Given the description of an element on the screen output the (x, y) to click on. 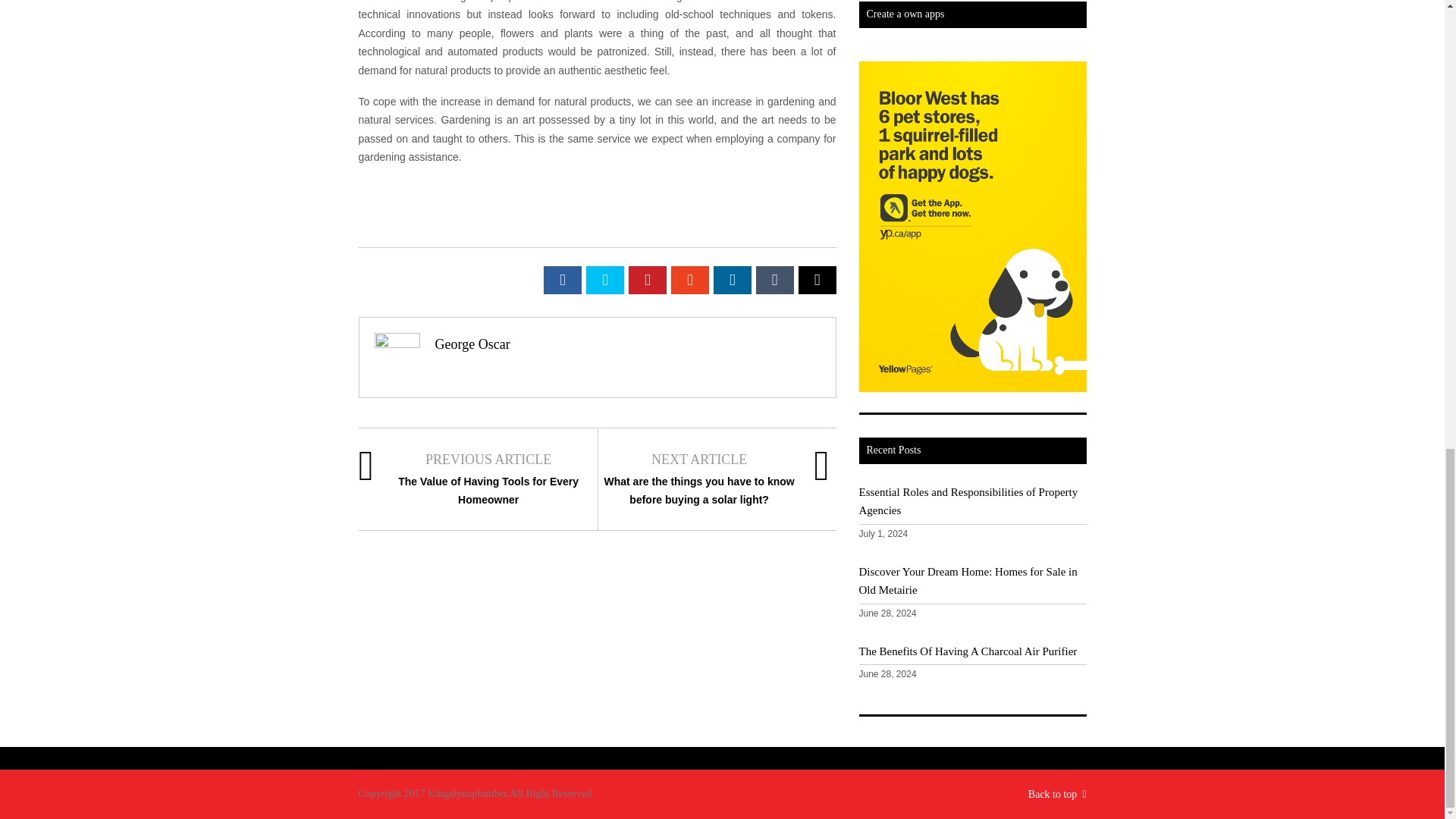
George Oscar (473, 344)
The Value of Having Tools for Every Homeowner (487, 490)
